Given the description of an element on the screen output the (x, y) to click on. 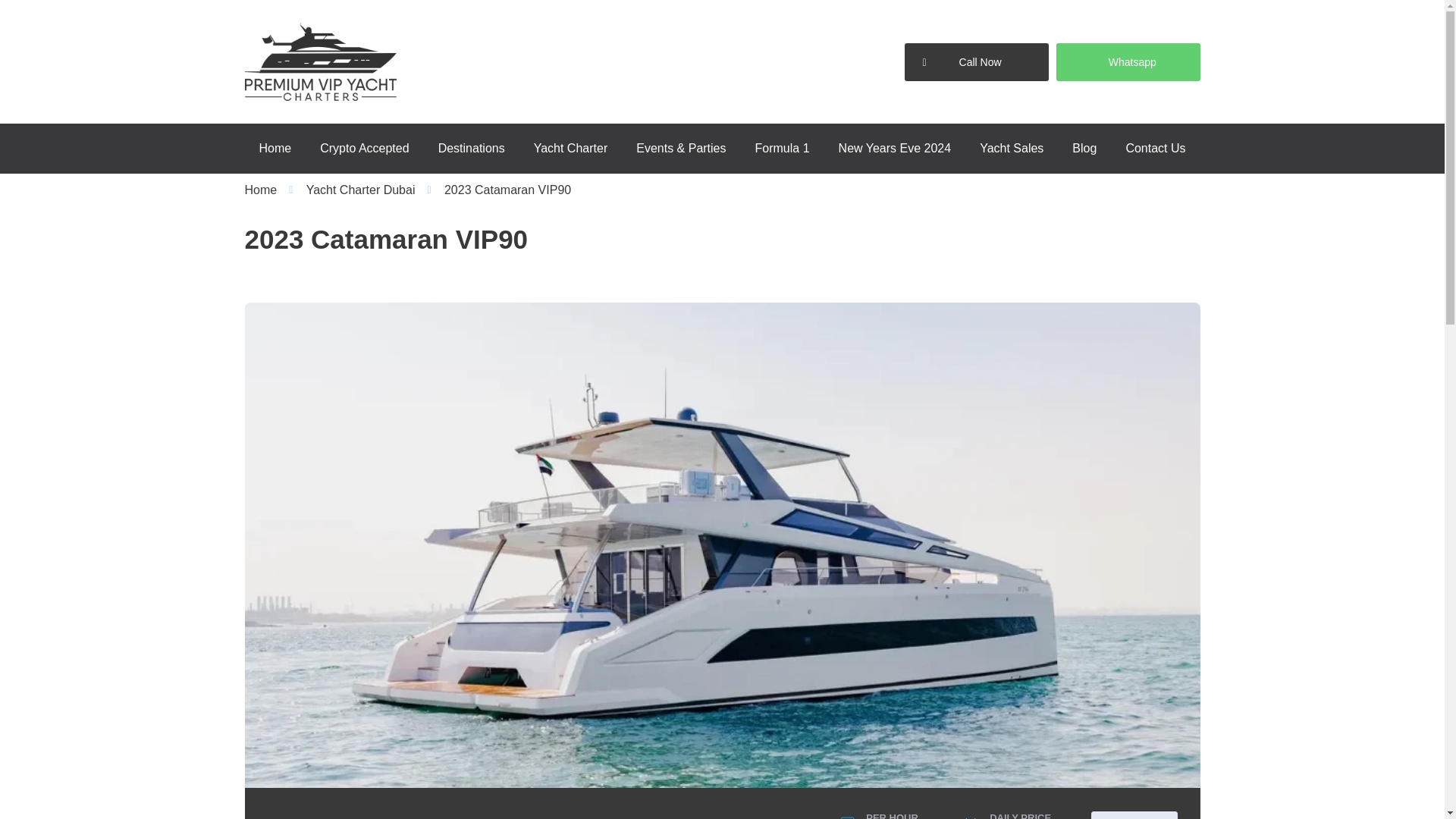
Yacht Charter Dubai (351, 189)
Call Now (976, 62)
Home (274, 148)
Home (260, 189)
Contact Us (1154, 148)
Destinations (471, 148)
Yacht Charter (571, 148)
Crypto Accepted (364, 148)
ENQUIRE (1133, 815)
Whatsapp (1127, 62)
New Years Eve 2024 (895, 148)
Blog (1084, 148)
Formula 1 (782, 148)
Yacht Sales (1011, 148)
